Given the description of an element on the screen output the (x, y) to click on. 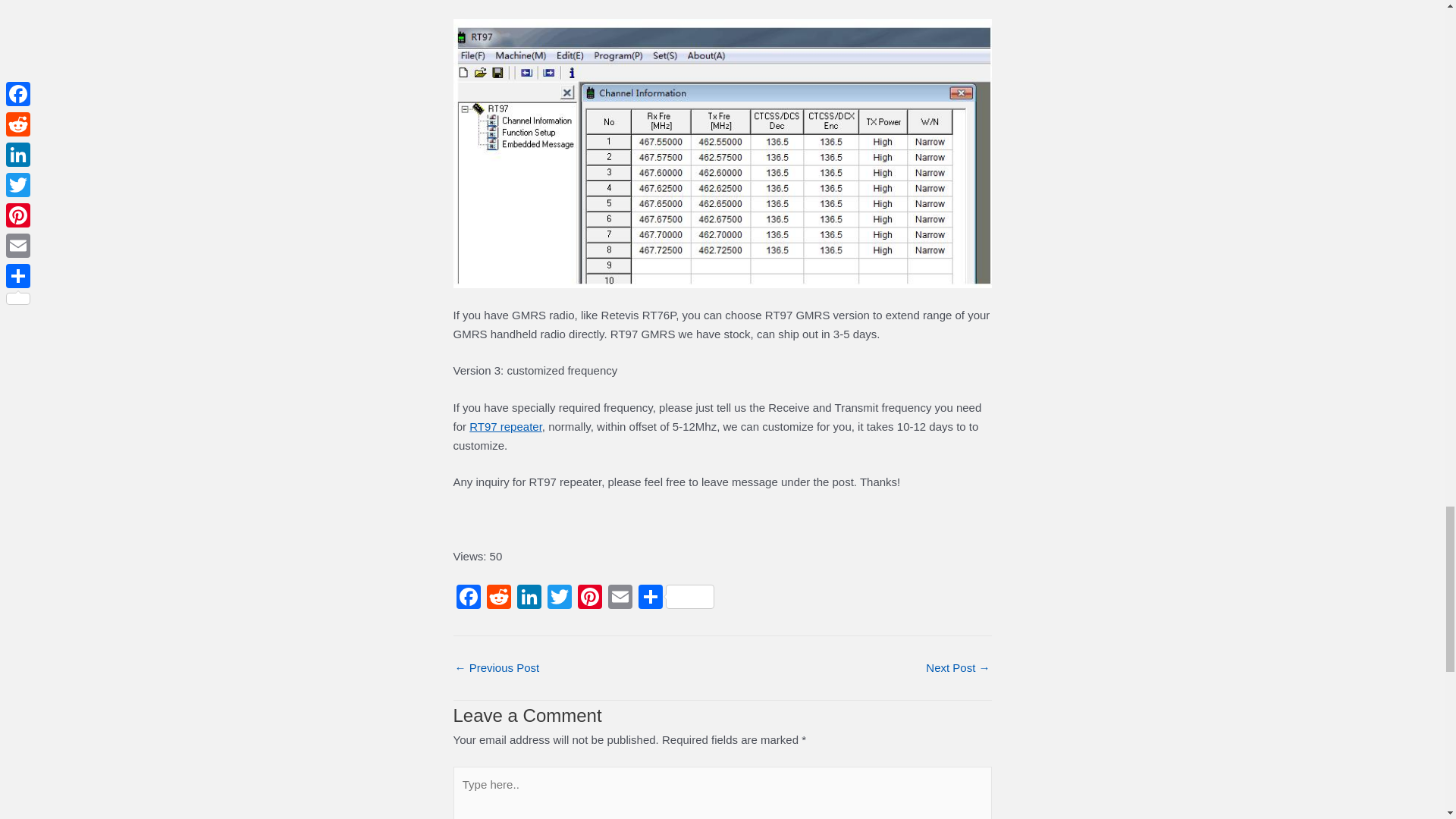
LinkedIn (528, 598)
Facebook (467, 598)
Pinterest (590, 598)
Reddit (498, 598)
10W Handheld UHF Radio Retevis RT86 (958, 667)
Twitter (559, 598)
How to Use Wireless Copy Function of RB26 (497, 667)
Email (619, 598)
